Given the description of an element on the screen output the (x, y) to click on. 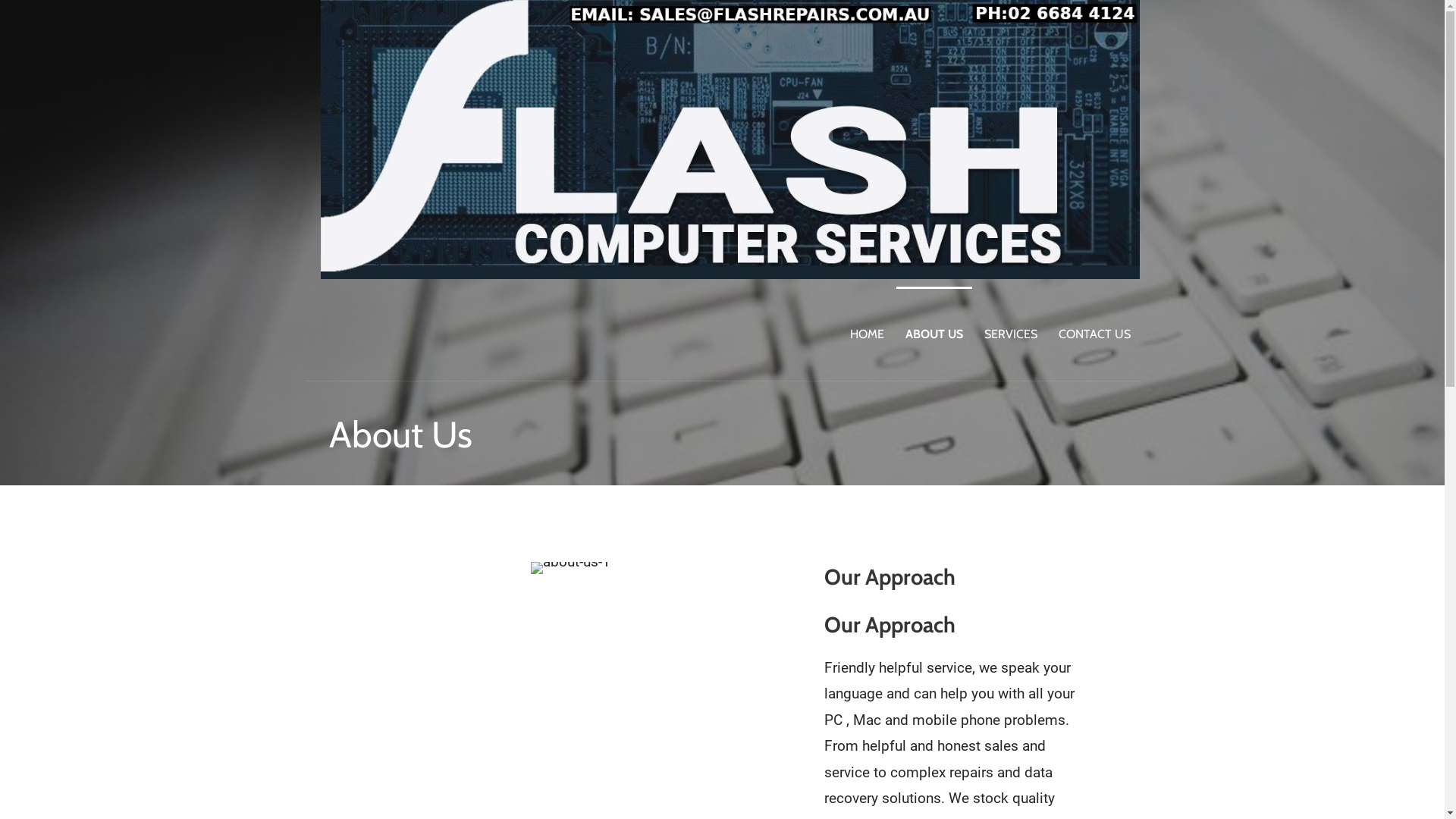
about-us-1 Element type: hover (570, 567)
HOME Element type: text (866, 333)
SERVICES Element type: text (1010, 333)
ABOUT US Element type: text (934, 333)
CONTACT US Element type: text (1094, 333)
